Given the description of an element on the screen output the (x, y) to click on. 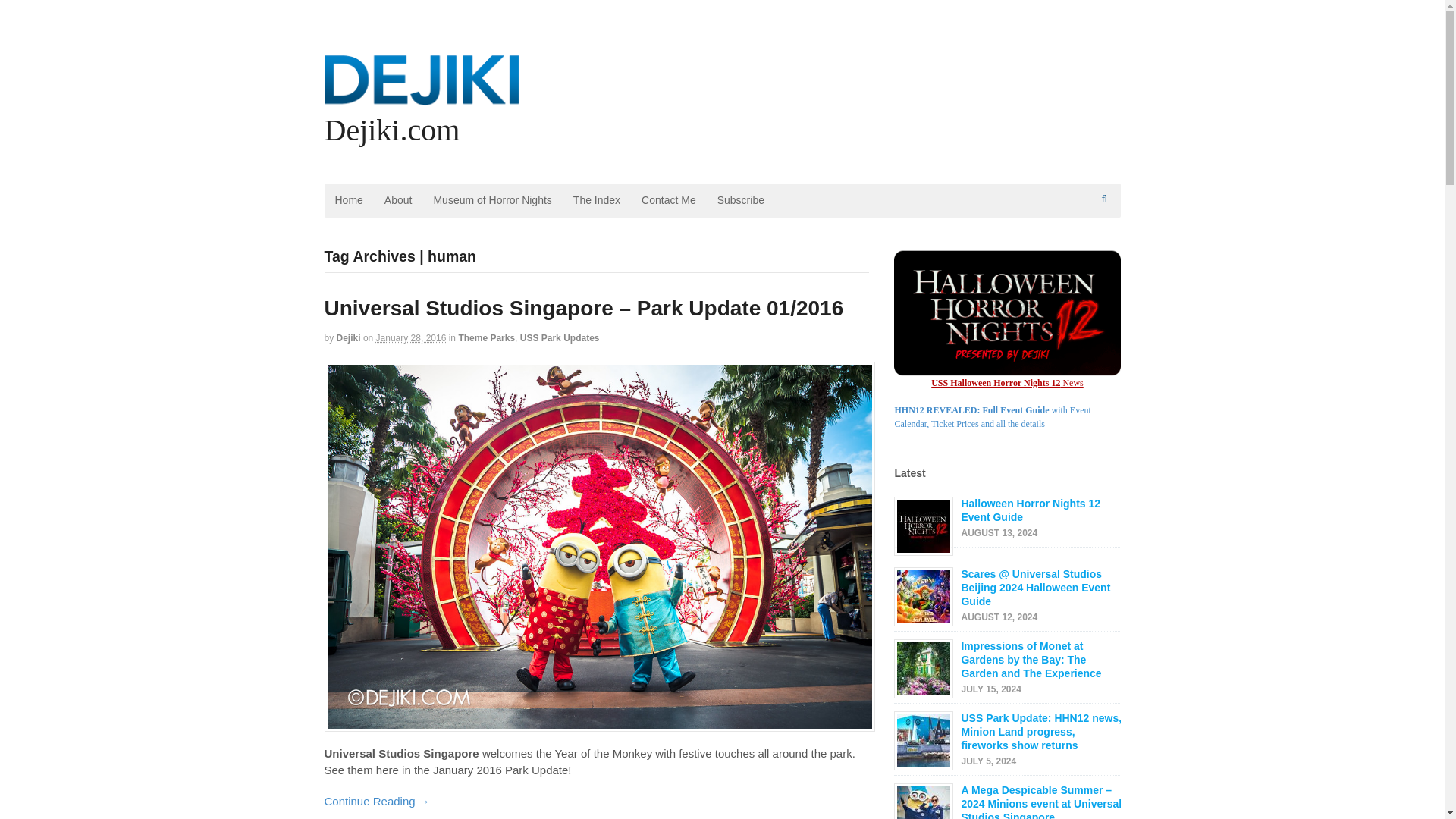
About (398, 200)
Dejiki (348, 337)
View all items in USS Park Updates (559, 337)
Museum of Horror Nights (492, 200)
Search (1106, 237)
Home (349, 200)
The Index (596, 200)
Subscribe (740, 200)
Theme Parks (486, 337)
Dejiki.com (392, 130)
